Given the description of an element on the screen output the (x, y) to click on. 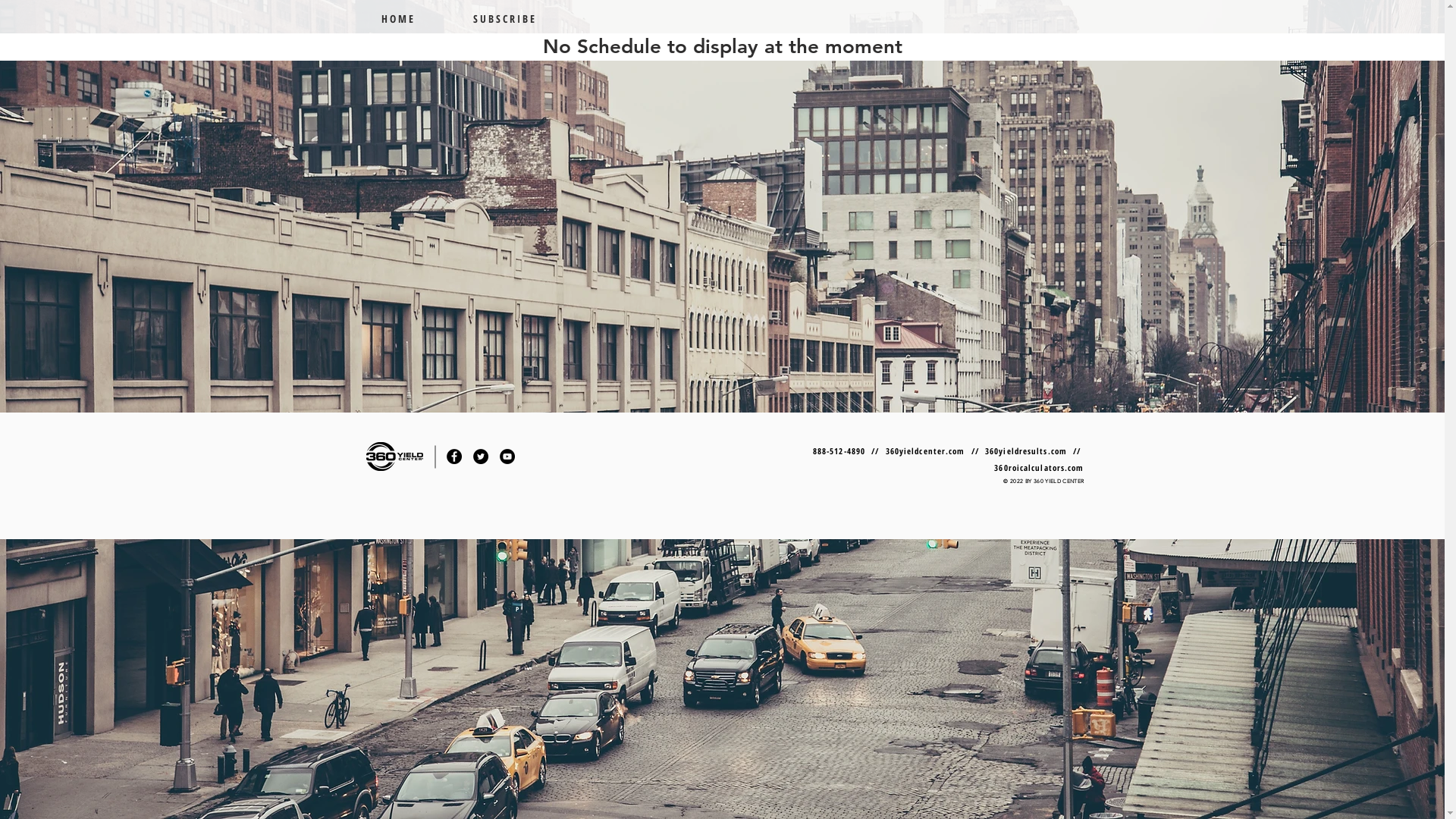
H O M E Element type: text (415, 18)
S U B S C R I B E Element type: text (521, 18)
